Given the description of an element on the screen output the (x, y) to click on. 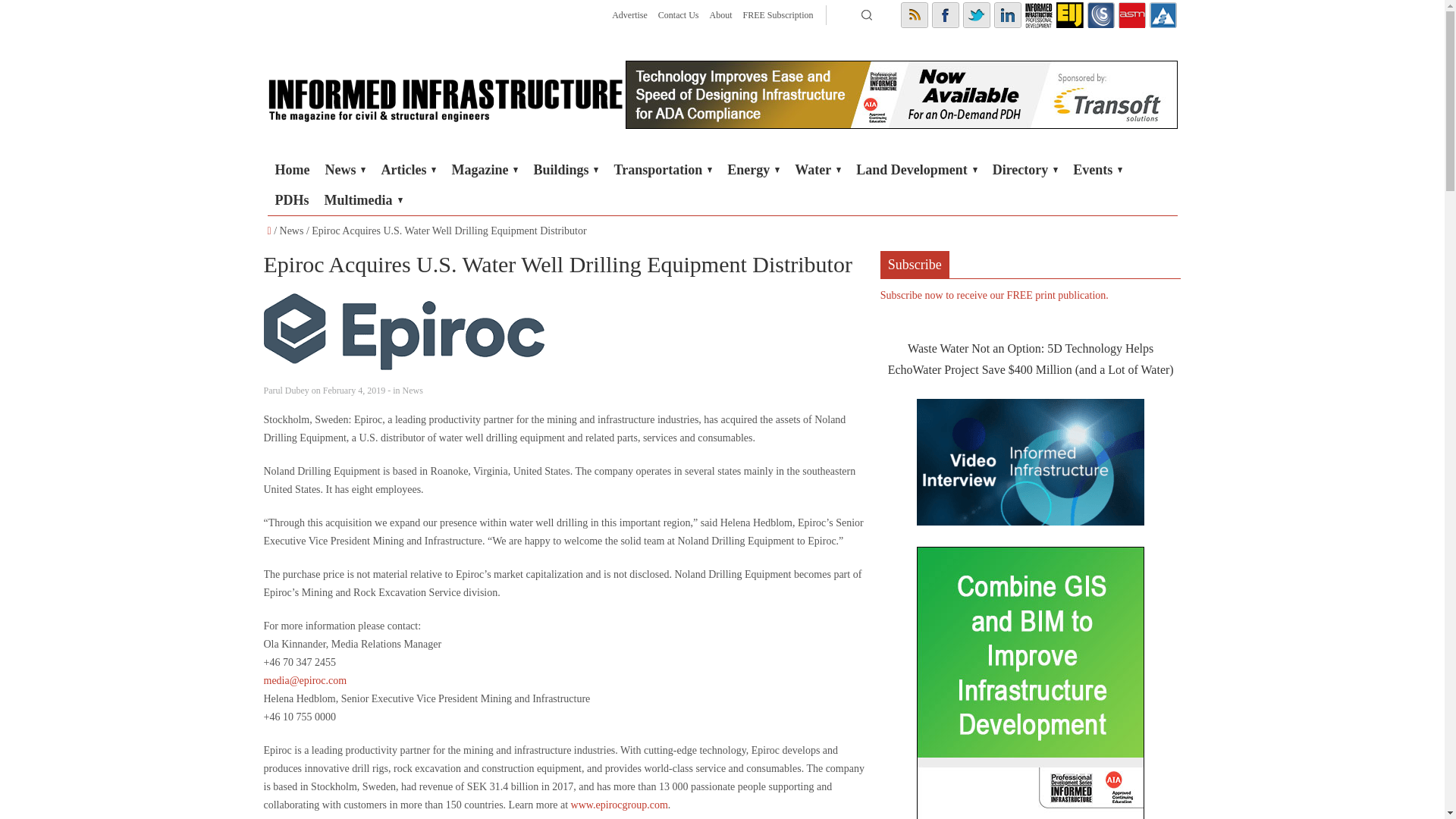
V1 Media (1038, 14)
Pinterest (1069, 14)
About (720, 14)
Vimeo (1163, 14)
RSS (914, 14)
Contact Us (678, 14)
Linkedin (1006, 14)
Transoft Solutions (900, 94)
Picasa (1101, 14)
Twitter (976, 14)
Linkedin (1006, 14)
Facebook (944, 14)
Youtube (1038, 14)
Sensors and Systems (1101, 14)
FREE Subscription (777, 14)
